Given the description of an element on the screen output the (x, y) to click on. 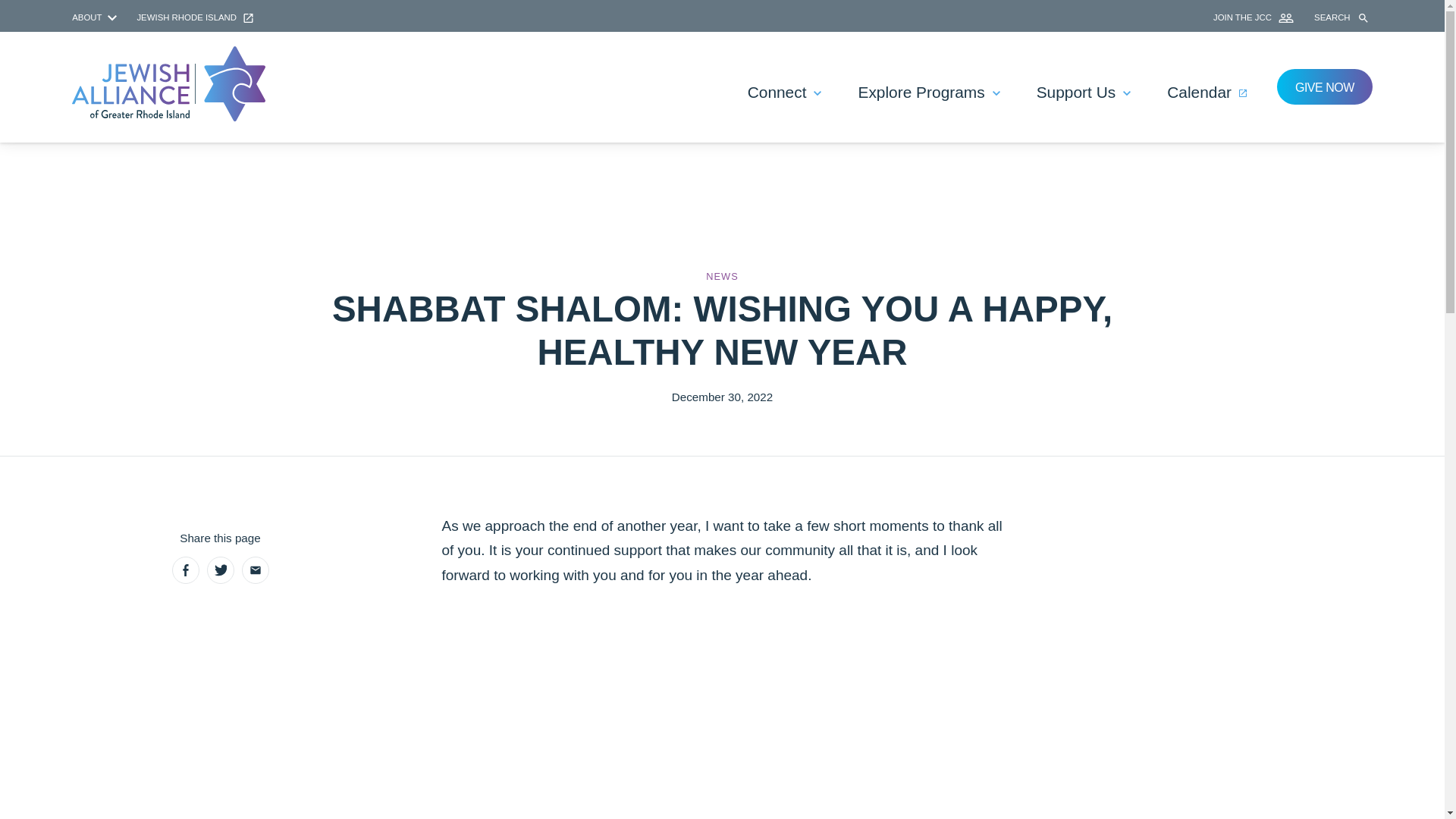
Shabbat Message Dec 30 2022 (722, 712)
ABOUT (95, 17)
JEWISH RHODE ISLAND (194, 17)
JOIN THE JCC (1254, 17)
Connect (784, 92)
SEARCH (1343, 18)
